Given the description of an element on the screen output the (x, y) to click on. 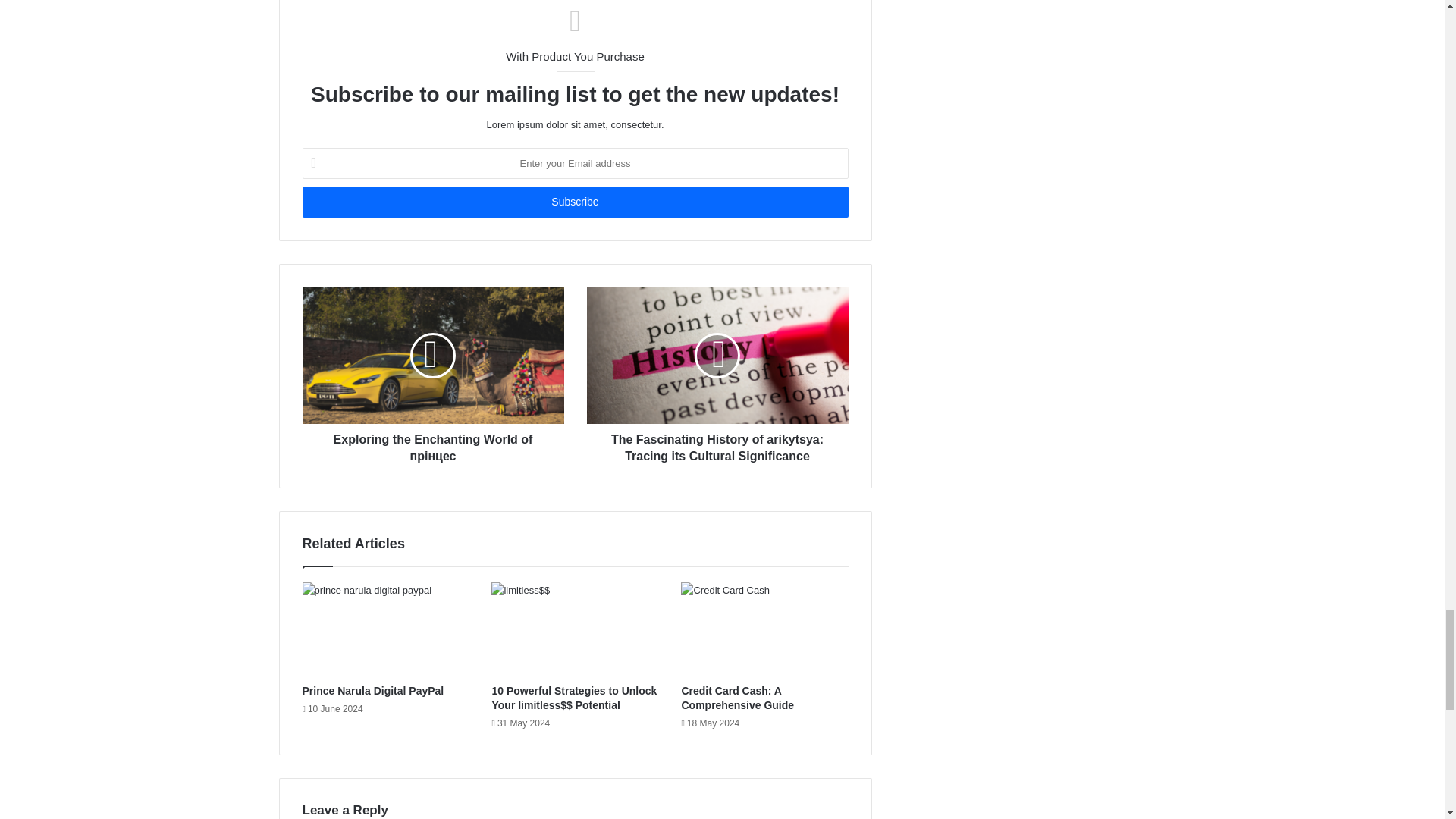
Subscribe (574, 201)
